Given the description of an element on the screen output the (x, y) to click on. 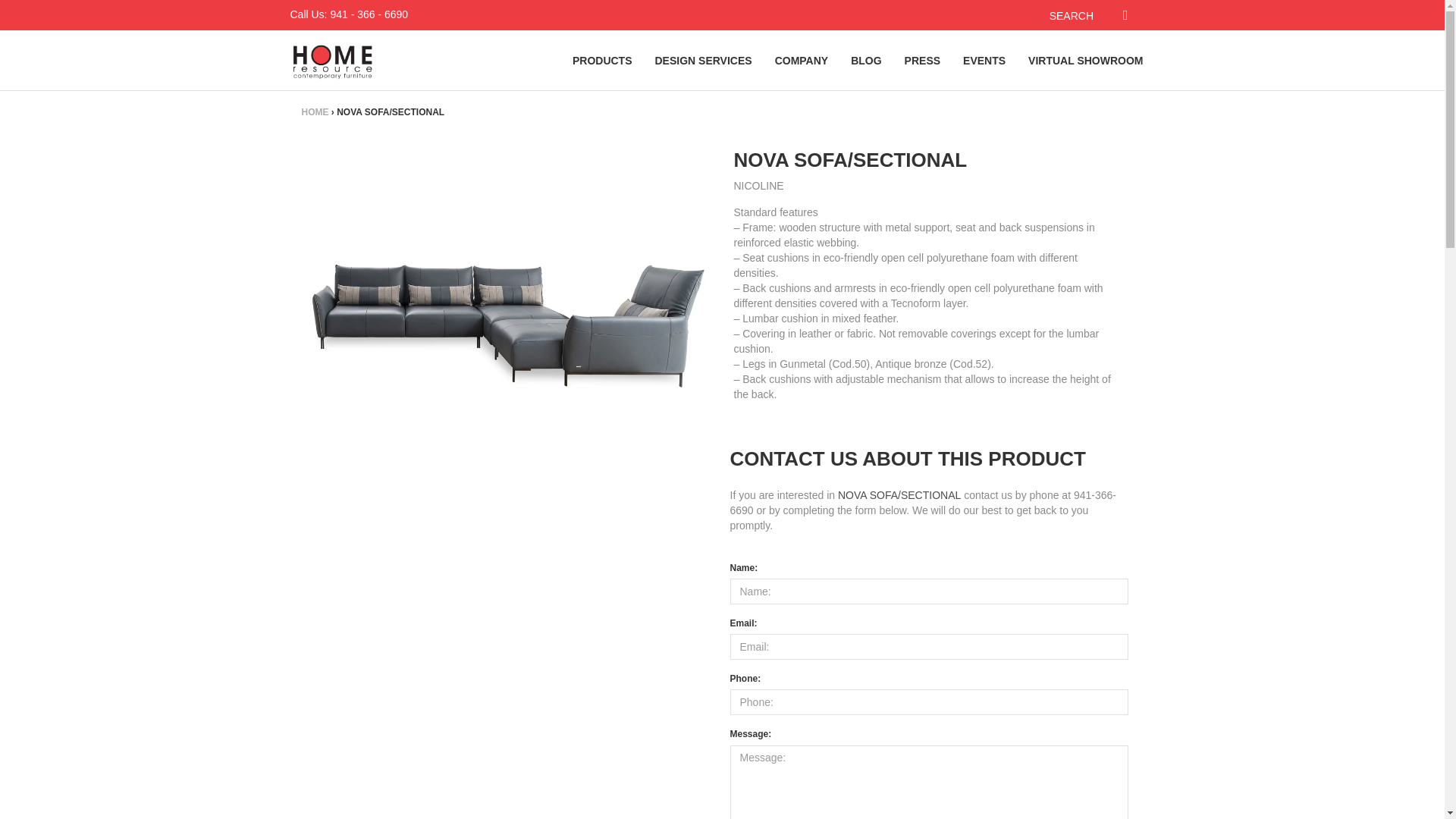
Home (315, 112)
HOME (315, 112)
PRESS (922, 60)
VIRTUAL SHOWROOM (1085, 60)
EVENTS (984, 60)
PRODUCTS (601, 60)
Home Resource Home Page (332, 60)
DESIGN SERVICES (702, 60)
941-366-6690 (922, 502)
941 - 366 - 6690 (368, 14)
Search (1133, 15)
COMPANY (801, 60)
